Given the description of an element on the screen output the (x, y) to click on. 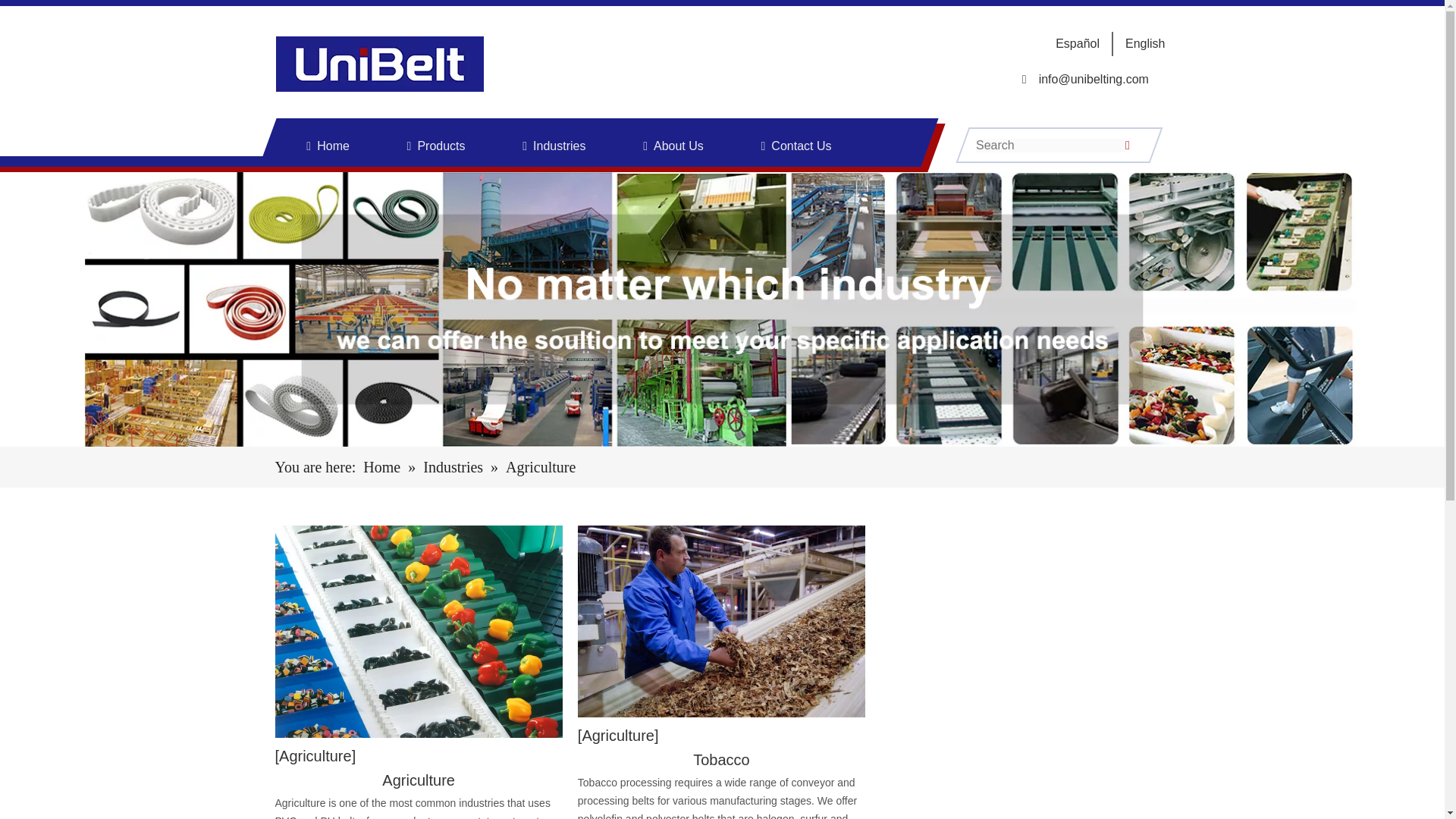
About Us (678, 146)
Industries (454, 466)
Home (333, 146)
Agriculture (618, 735)
Agriculture (315, 755)
Home (383, 466)
Contact Us (801, 146)
Products (440, 146)
Tobacco (721, 759)
Agriculture (418, 780)
Agriculture (418, 780)
Industries (558, 146)
English (1144, 42)
